Given the description of an element on the screen output the (x, y) to click on. 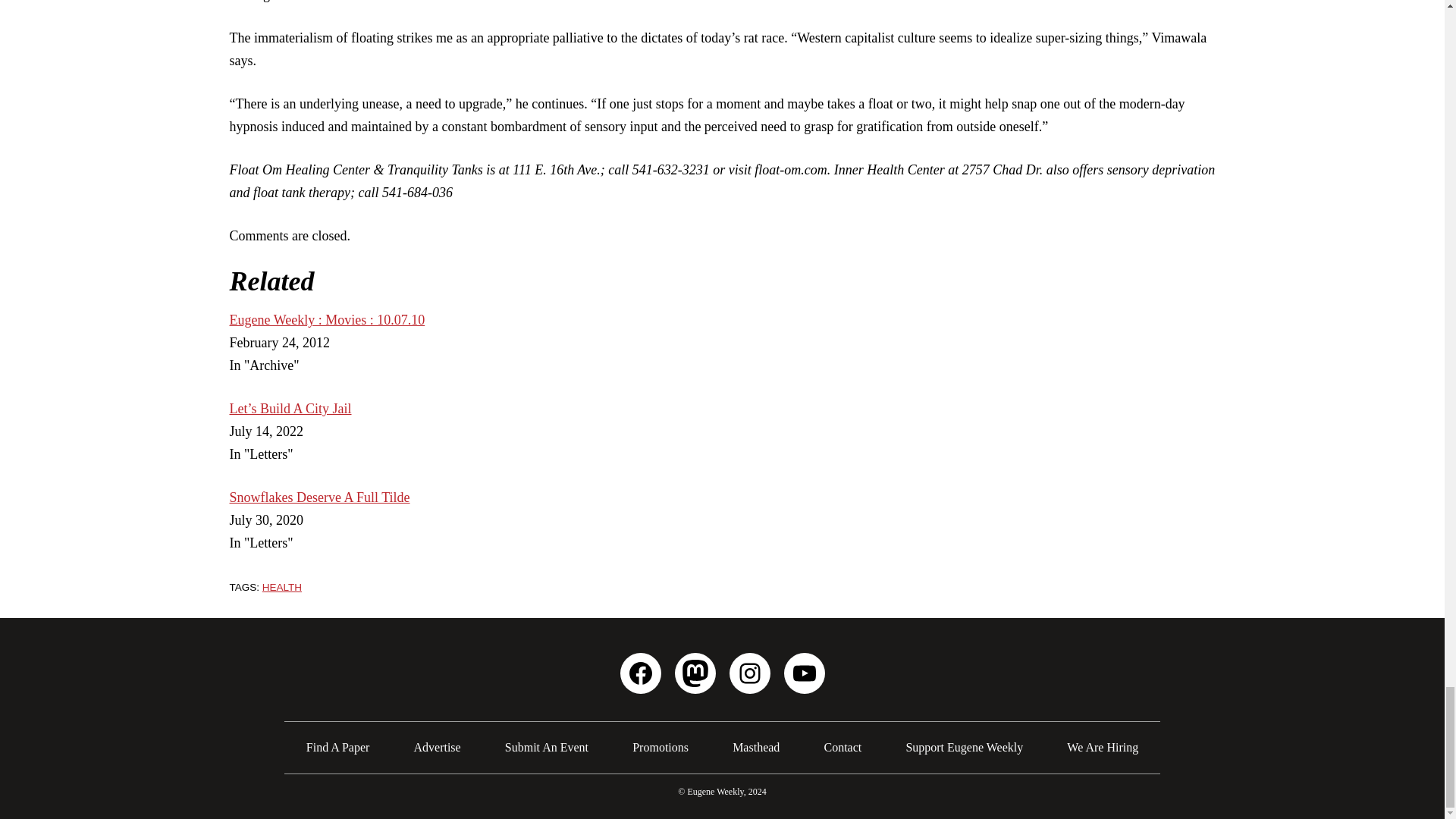
Snowflakes Deserve A Full Tilde (318, 497)
Eugene Weekly : Movies : 10.07.10 (326, 319)
